Given the description of an element on the screen output the (x, y) to click on. 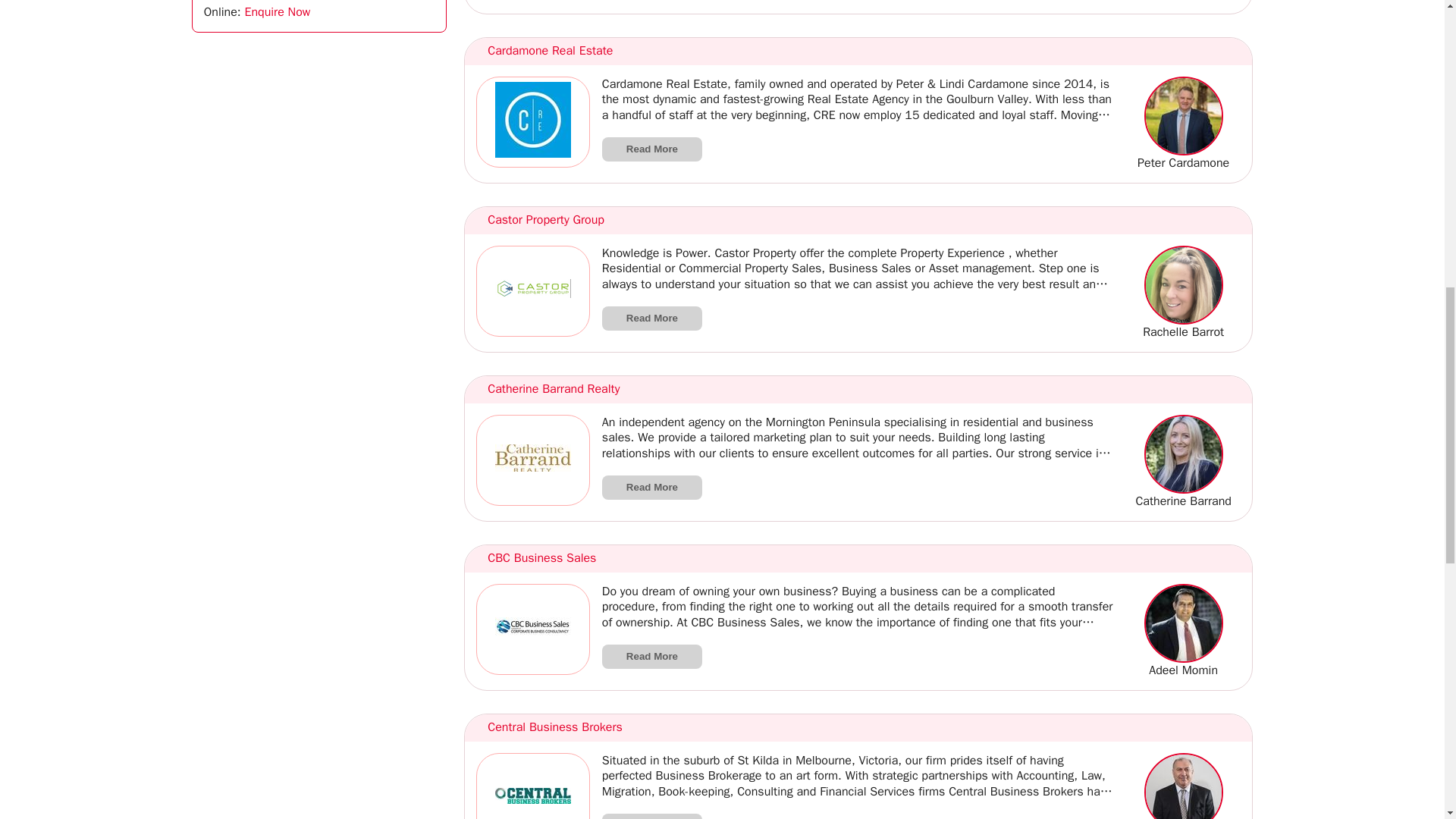
Enquire Now (277, 11)
